Given the description of an element on the screen output the (x, y) to click on. 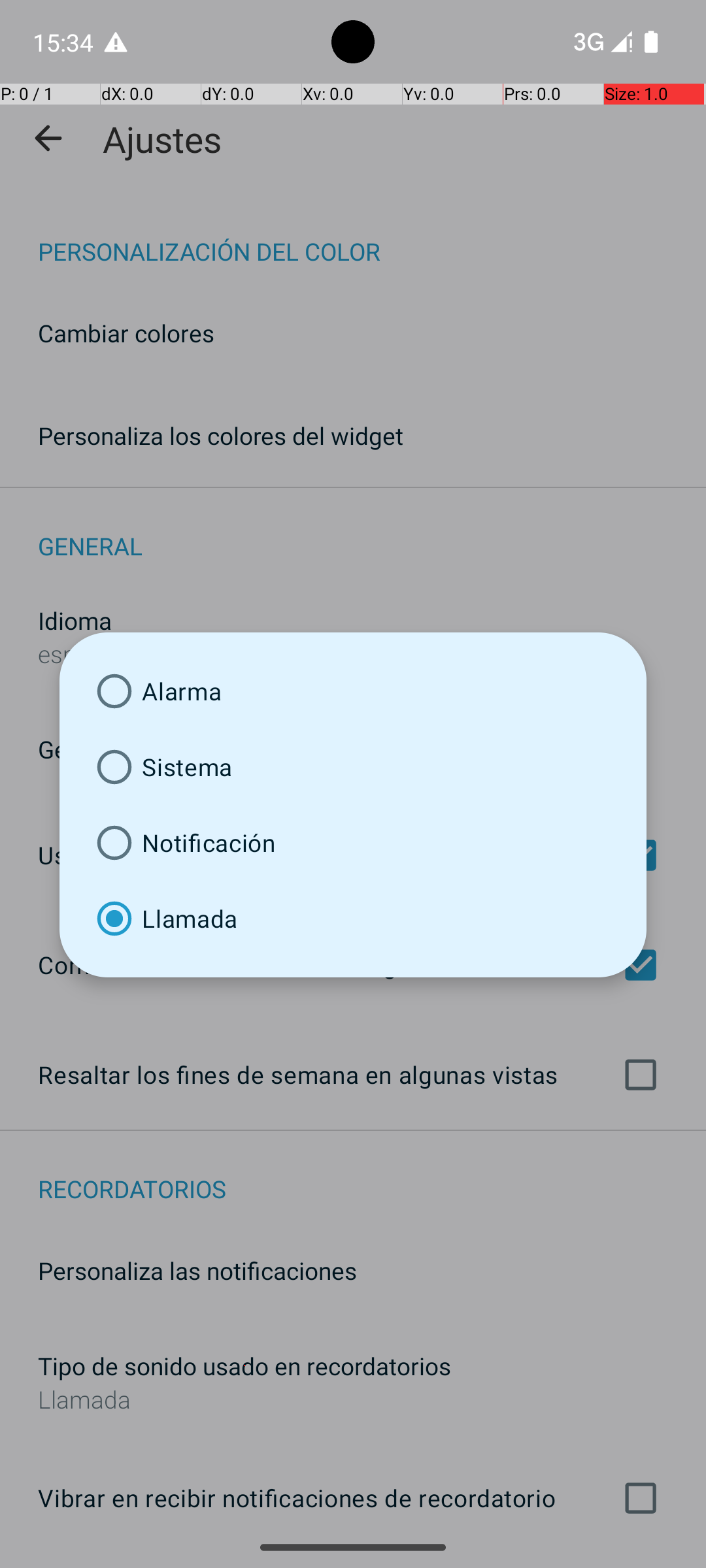
Alarma Element type: android.widget.RadioButton (352, 691)
Sistema Element type: android.widget.RadioButton (352, 766)
Notificación Element type: android.widget.RadioButton (352, 842)
Llamada Element type: android.widget.RadioButton (352, 918)
